Given the description of an element on the screen output the (x, y) to click on. 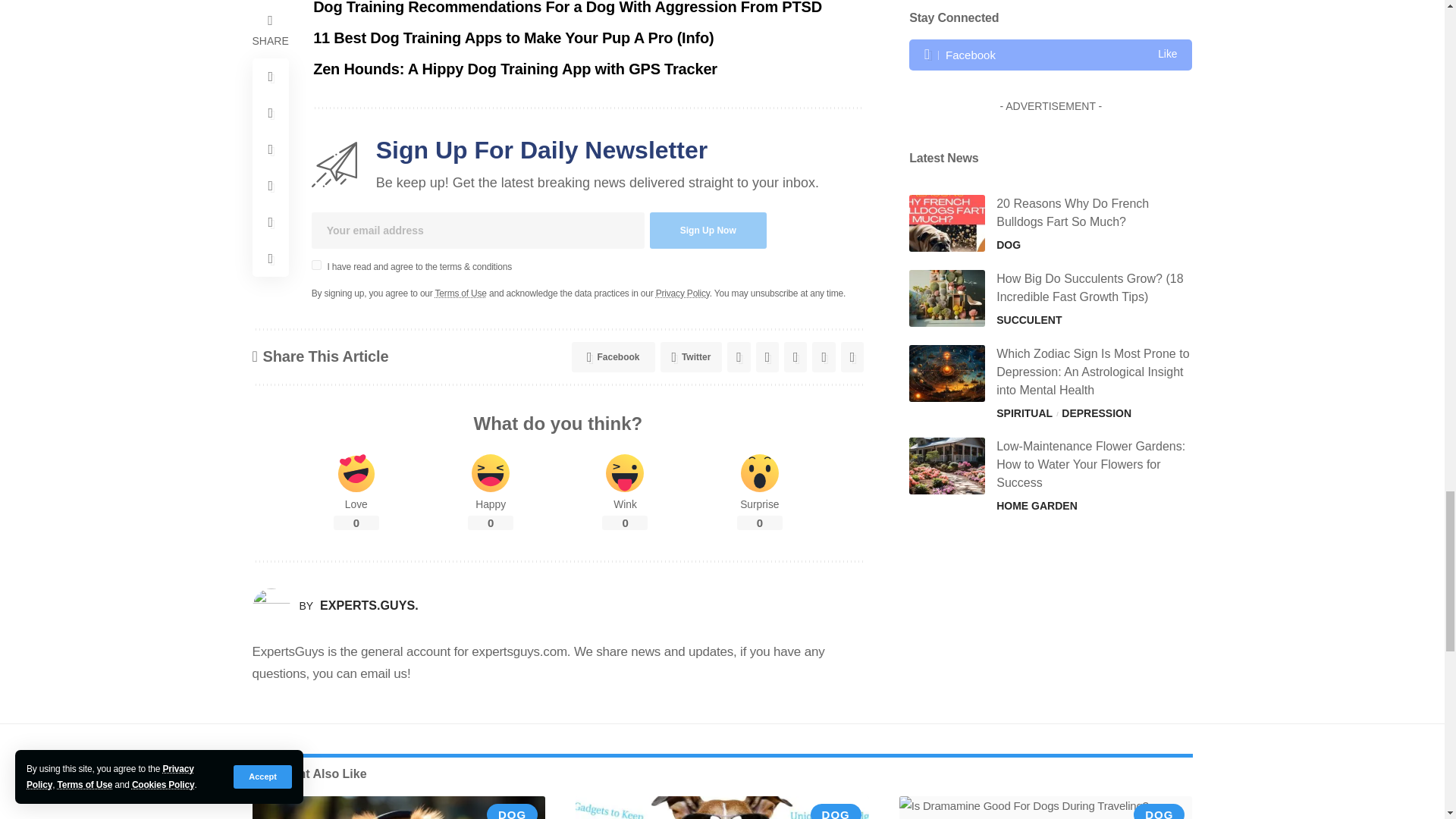
Sign Up Now (708, 230)
1 (316, 265)
